Given the description of an element on the screen output the (x, y) to click on. 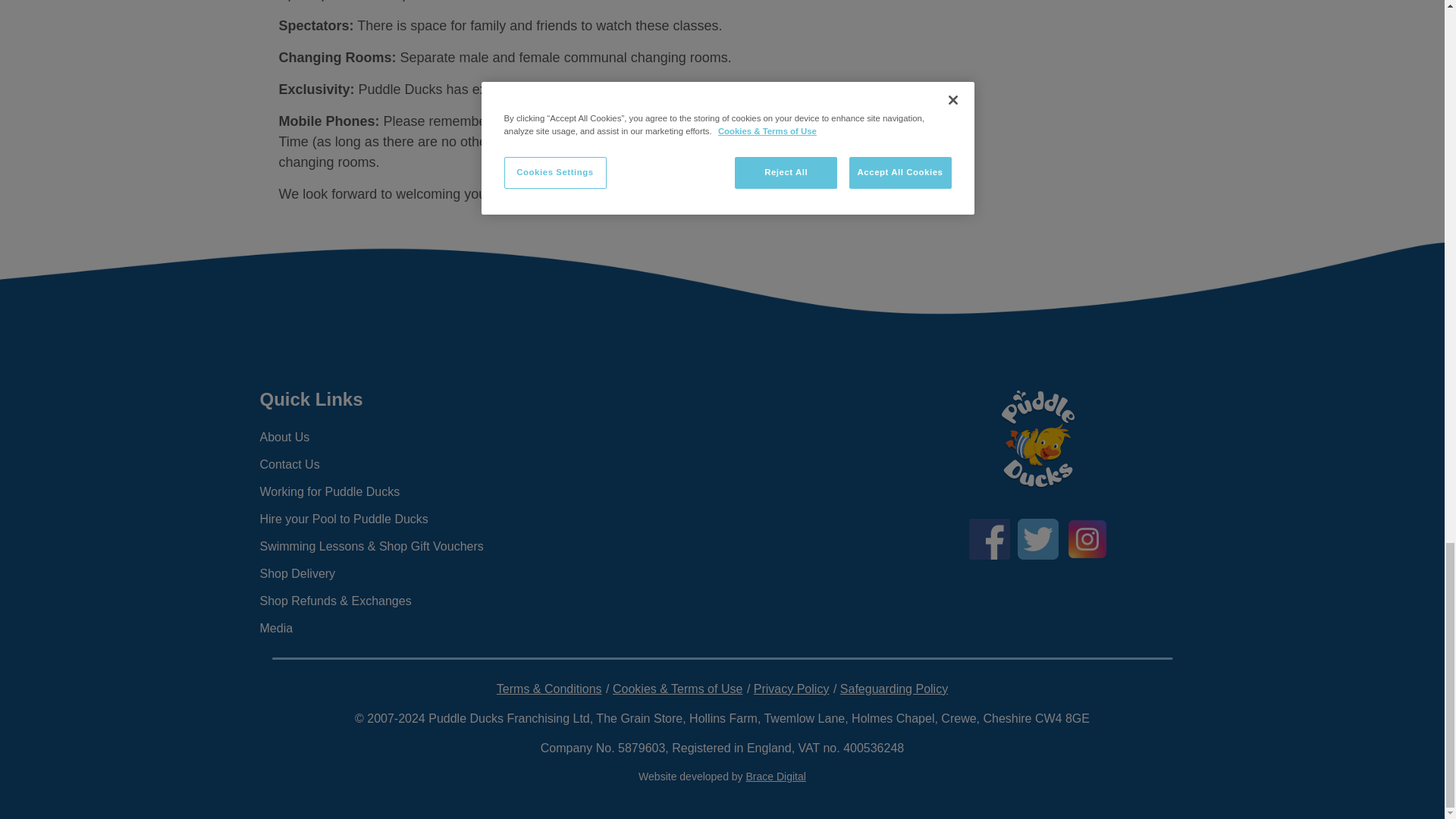
Shop Delivery (406, 574)
Contact Us (406, 464)
Hire your Pool to Puddle Ducks (406, 519)
About Us (406, 437)
Media (406, 628)
Working for Puddle Ducks (406, 492)
Quick Links (406, 399)
